Given the description of an element on the screen output the (x, y) to click on. 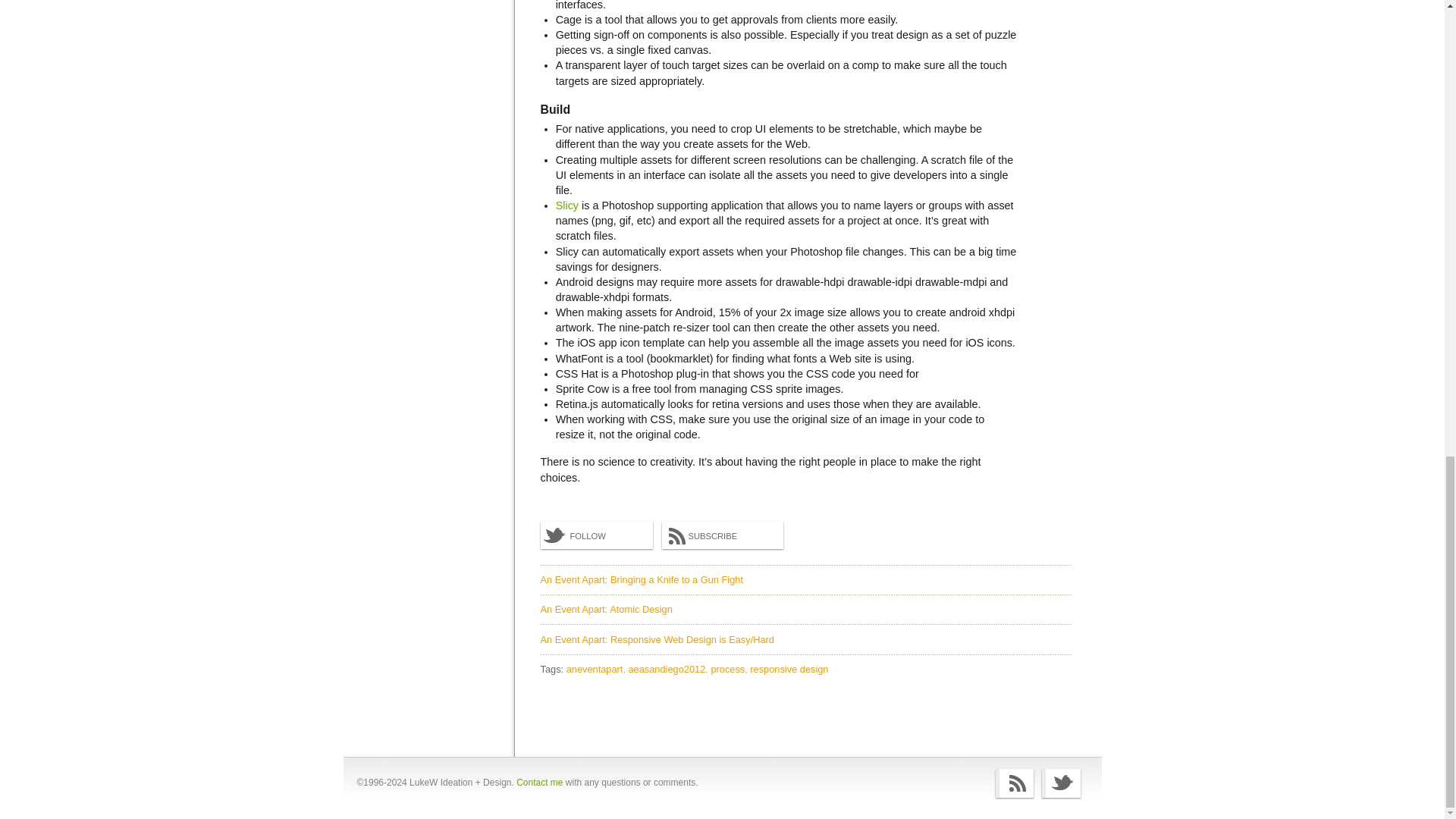
Contact me (539, 782)
aneventapart (596, 668)
process (728, 668)
FOLLOW (596, 534)
Subscribe to News (1014, 783)
An Event Apart: Bringing a Knife to a Gun Fight (641, 579)
Slicy (567, 205)
Follow on Twitter (596, 534)
Follow on Twitter (1061, 783)
An Event Apart: Atomic Design (605, 609)
